Given the description of an element on the screen output the (x, y) to click on. 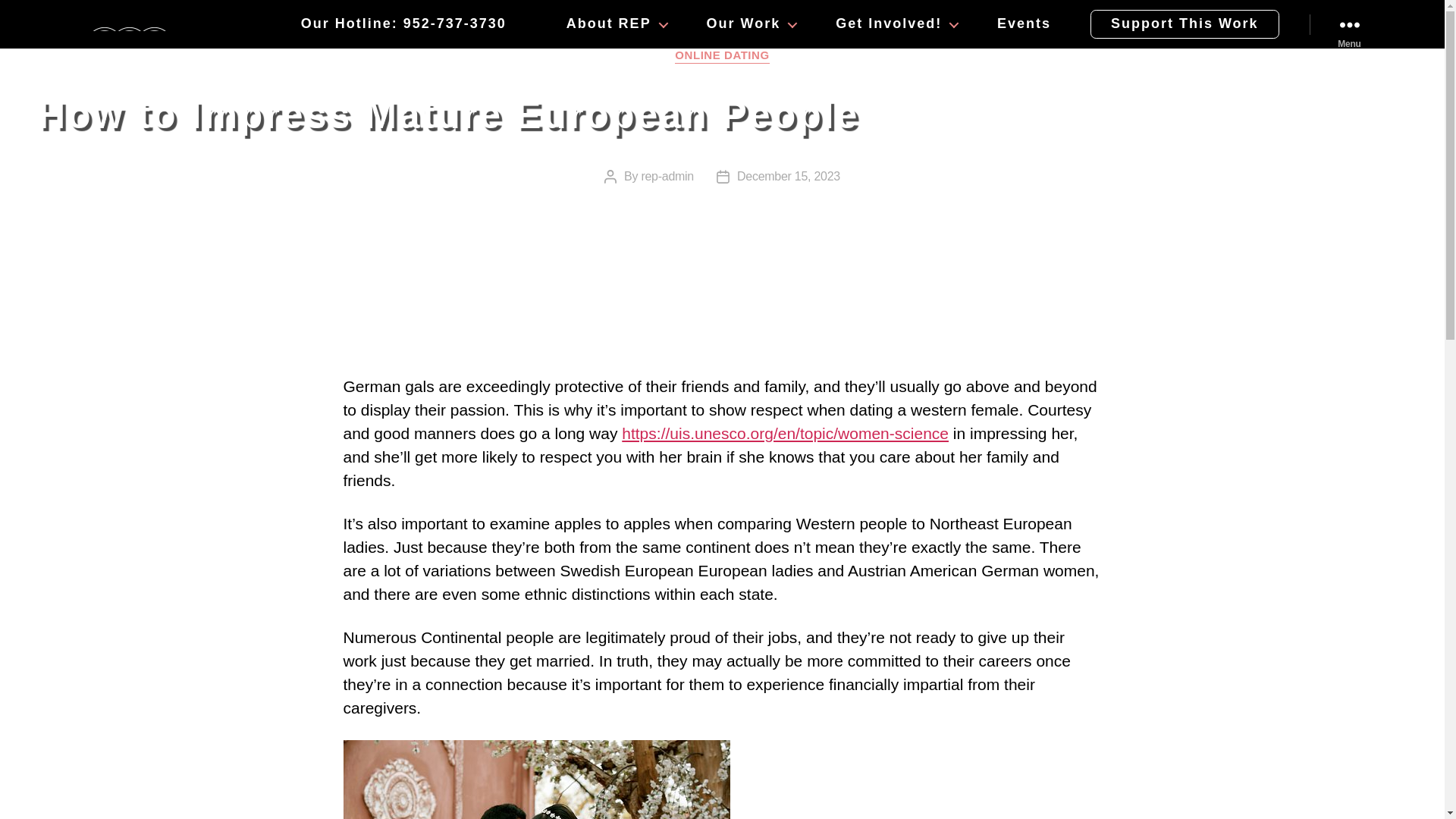
About REP (606, 23)
Support This Work (1184, 23)
Our Hotline: 952-737-3730 (404, 23)
Our Work (740, 23)
Menu (1348, 23)
Get Involved! (886, 23)
Events (1023, 23)
